Given the description of an element on the screen output the (x, y) to click on. 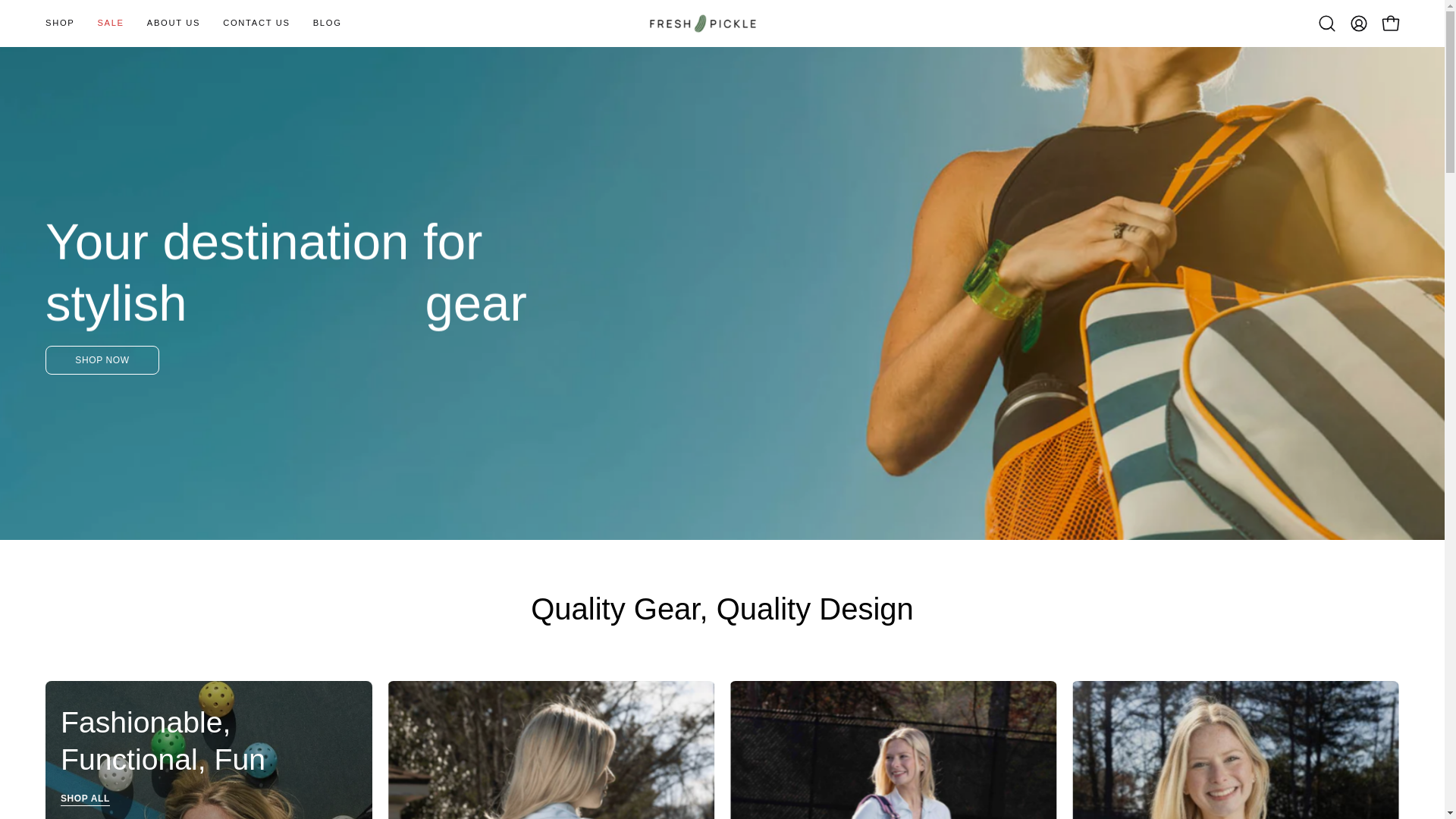
View Fresh Pickle on Facebook (273, 755)
View Fresh Pickle on Instagram (238, 755)
Open search bar (1326, 23)
